Given the description of an element on the screen output the (x, y) to click on. 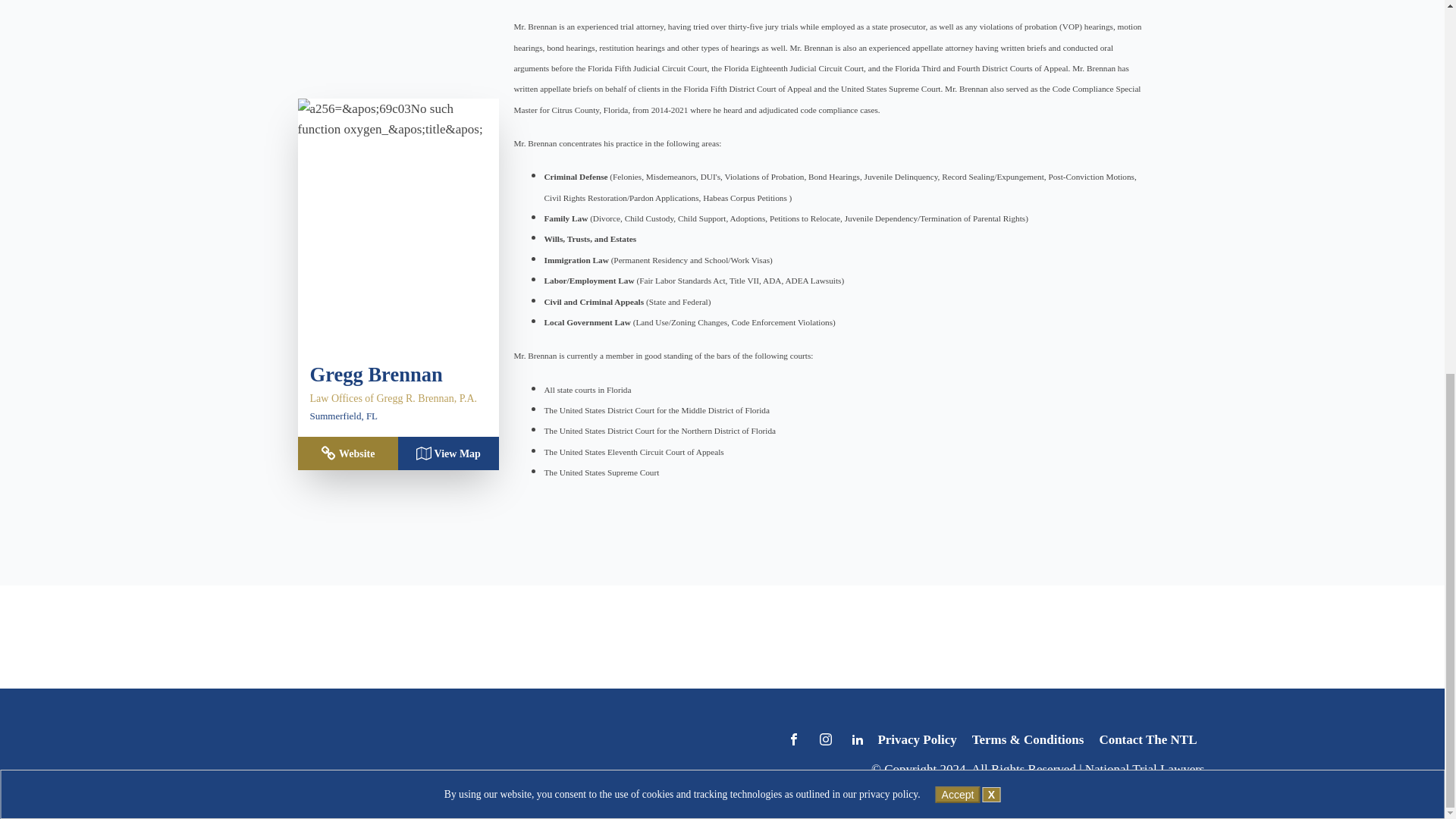
X (991, 109)
Accept (957, 109)
